Given the description of an element on the screen output the (x, y) to click on. 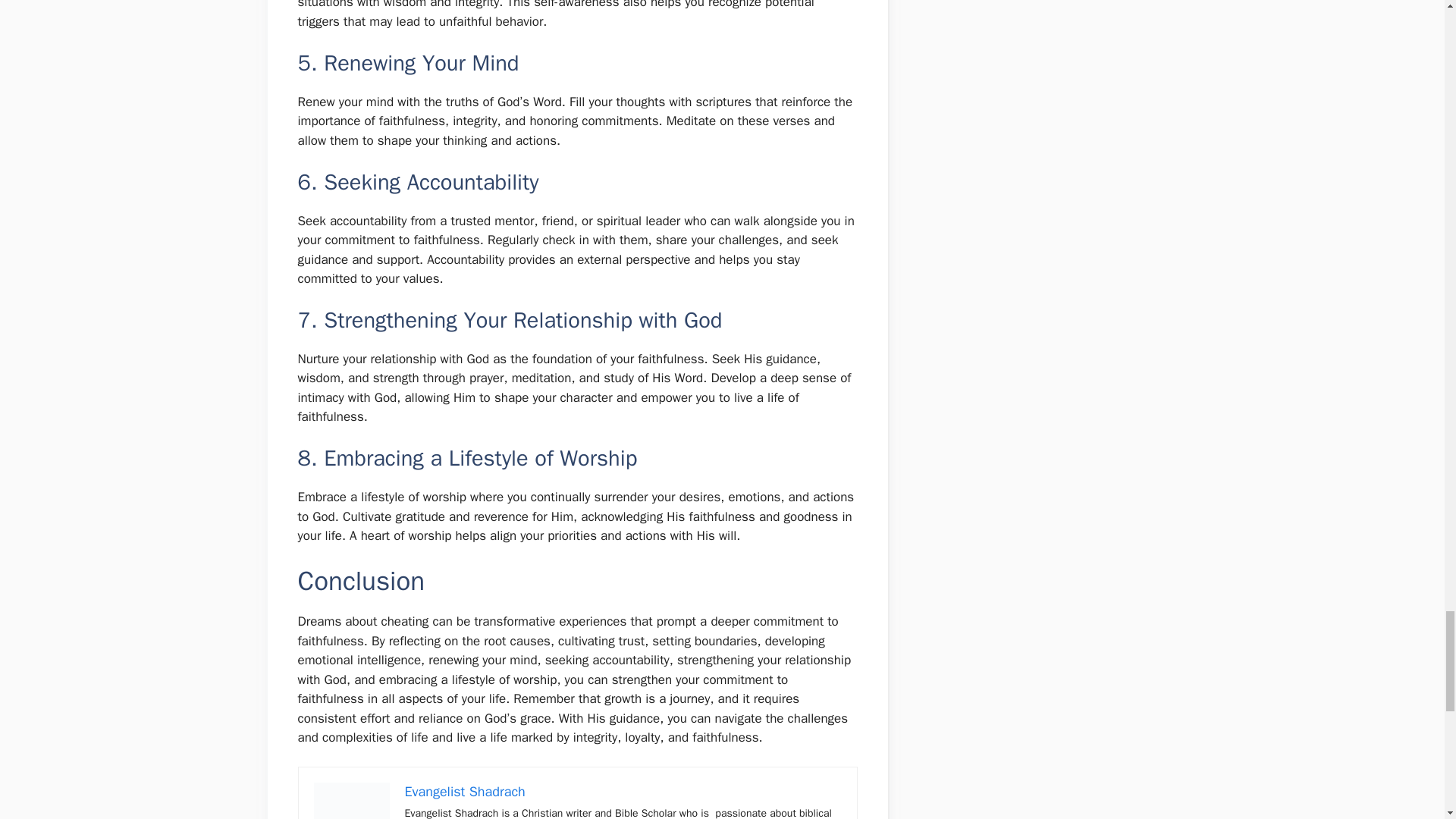
Evangelist Shadrach (464, 791)
